Given the description of an element on the screen output the (x, y) to click on. 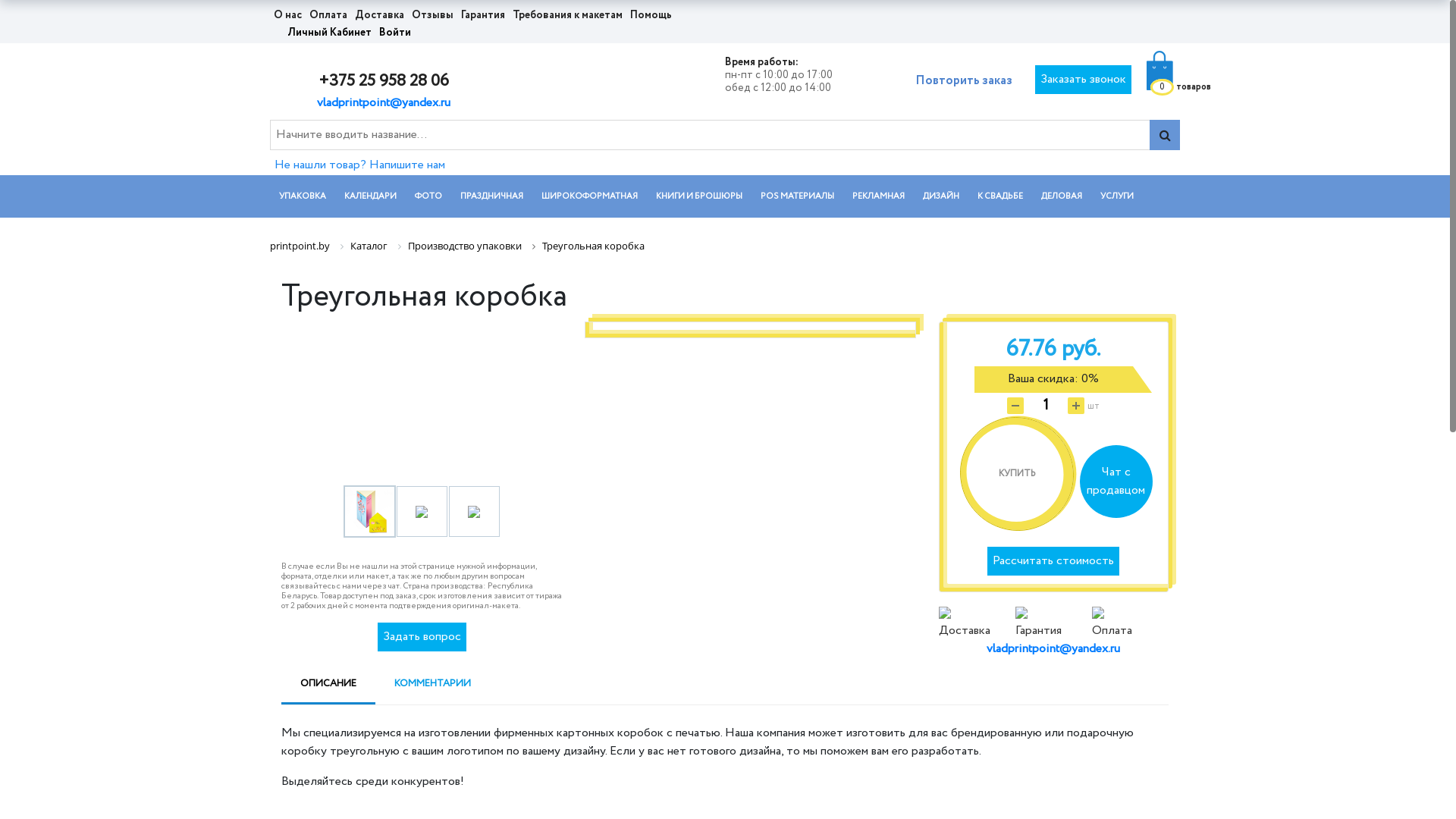
vladprintpoint@yandex.ru Element type: text (383, 103)
printpoint.by Element type: text (299, 246)
+375 25 958 28 06 Element type: text (383, 80)
vladprintpoint@yandex.ru Element type: text (1053, 649)
